Given the description of an element on the screen output the (x, y) to click on. 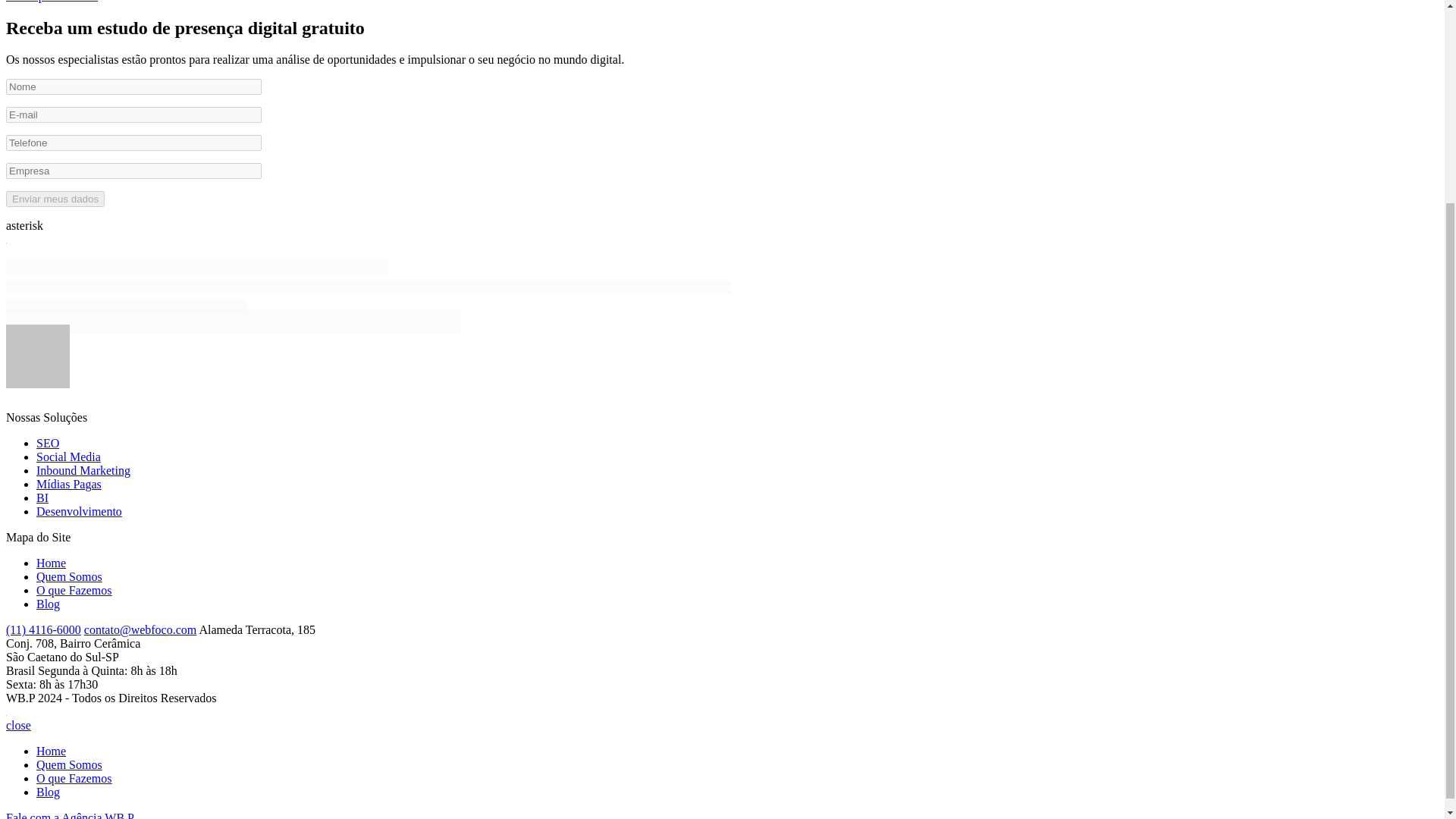
Voltar para a home (51, 1)
Enviar meus dados (54, 198)
Home (50, 750)
Blog (47, 603)
Quem Somos (68, 576)
SEO (47, 442)
Home (50, 562)
Social Media (68, 456)
Quem Somos (68, 764)
